Given the description of an element on the screen output the (x, y) to click on. 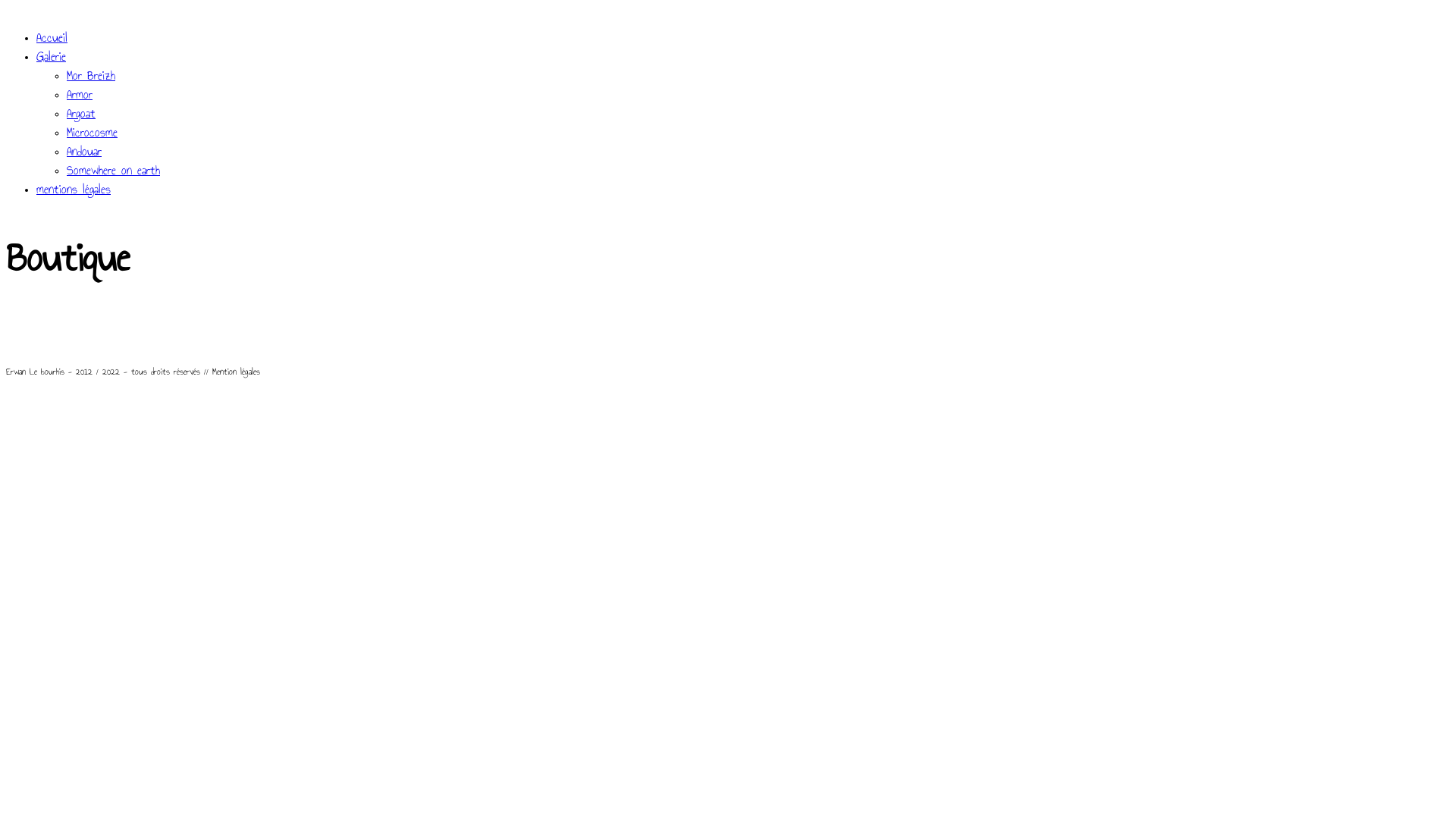
Andouar Element type: text (83, 150)
Microcosme Element type: text (91, 131)
Armor Element type: text (79, 93)
Galerie Element type: text (50, 56)
Accueil Element type: text (51, 37)
Argoat Element type: text (80, 112)
Somewhere on earth Element type: text (113, 169)
Mor Breizh Element type: text (90, 74)
